Given the description of an element on the screen output the (x, y) to click on. 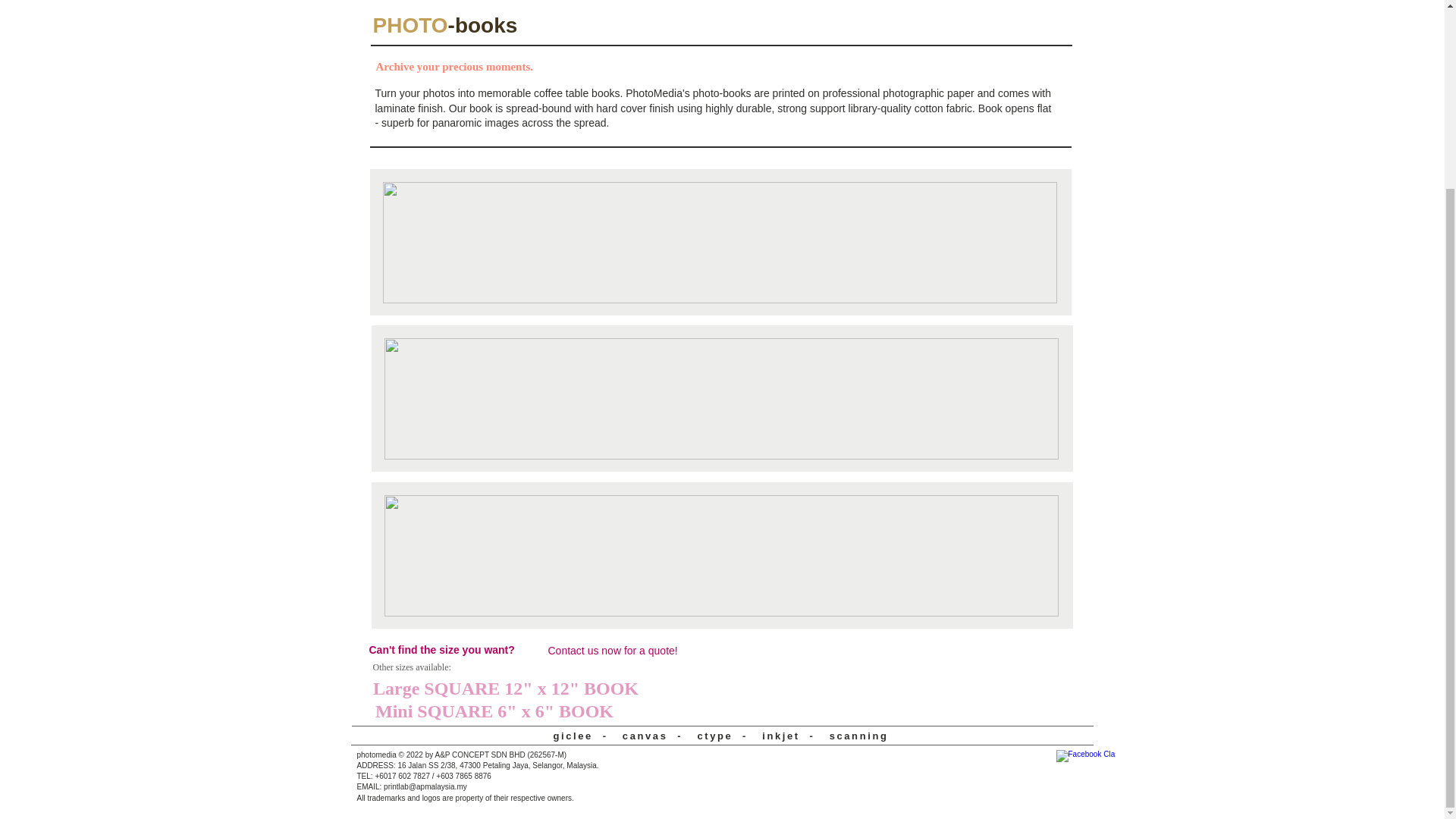
inkjet (780, 736)
Large SQUARE 12" x 12" BOOK (505, 689)
scanning (858, 736)
Mini SQUARE 6" x 6" BOOK (494, 712)
Contact us now for a quote! (622, 651)
canvas (645, 736)
giclee (572, 736)
ctype (714, 736)
